Given the description of an element on the screen output the (x, y) to click on. 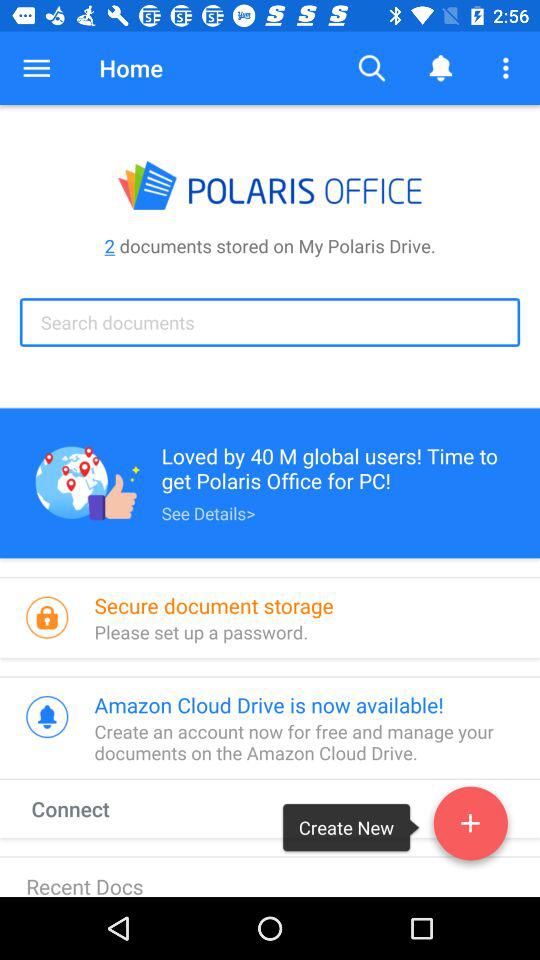
press the item to the left of home icon (36, 68)
